Given the description of an element on the screen output the (x, y) to click on. 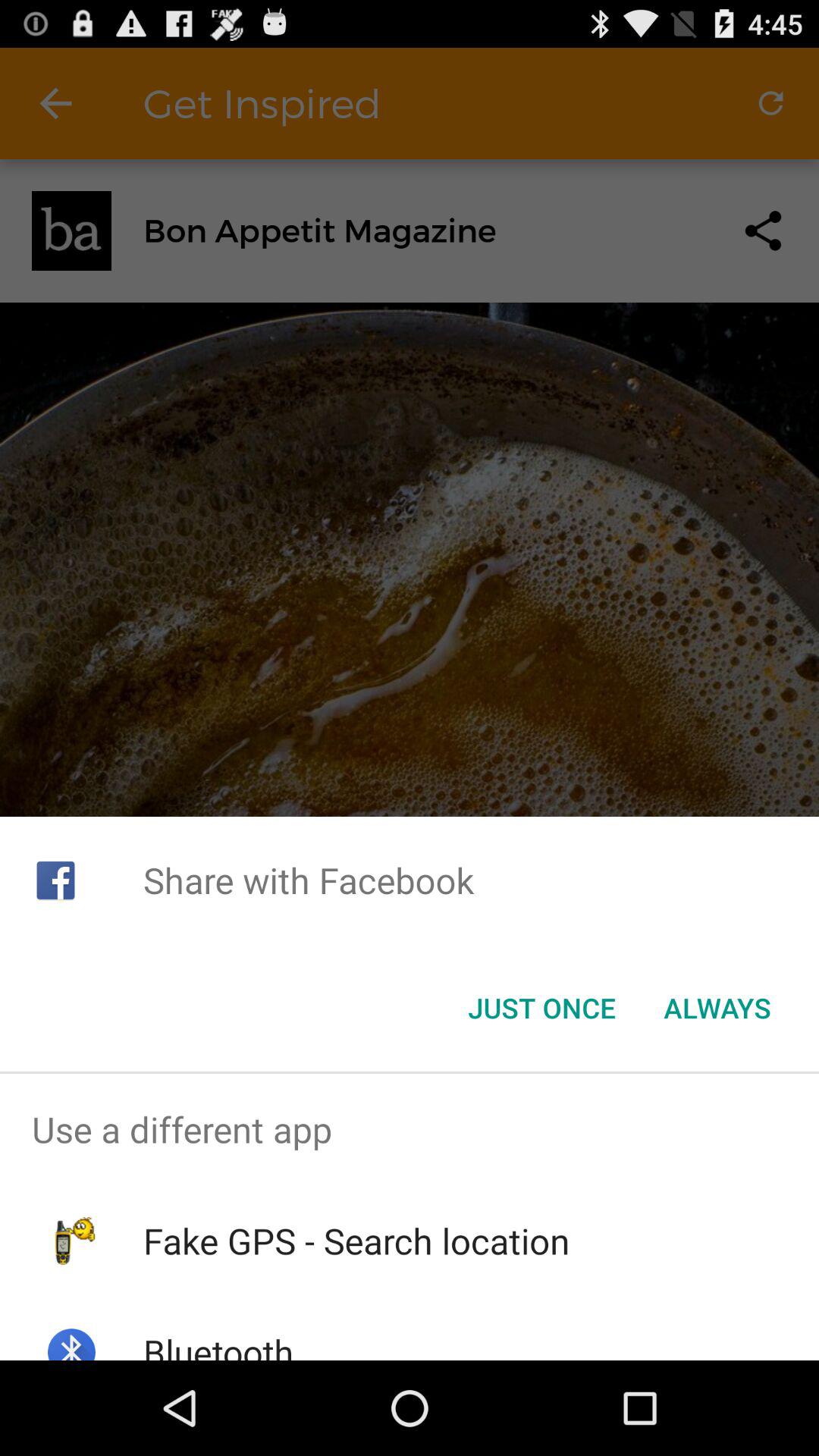
launch the always button (717, 1007)
